Given the description of an element on the screen output the (x, y) to click on. 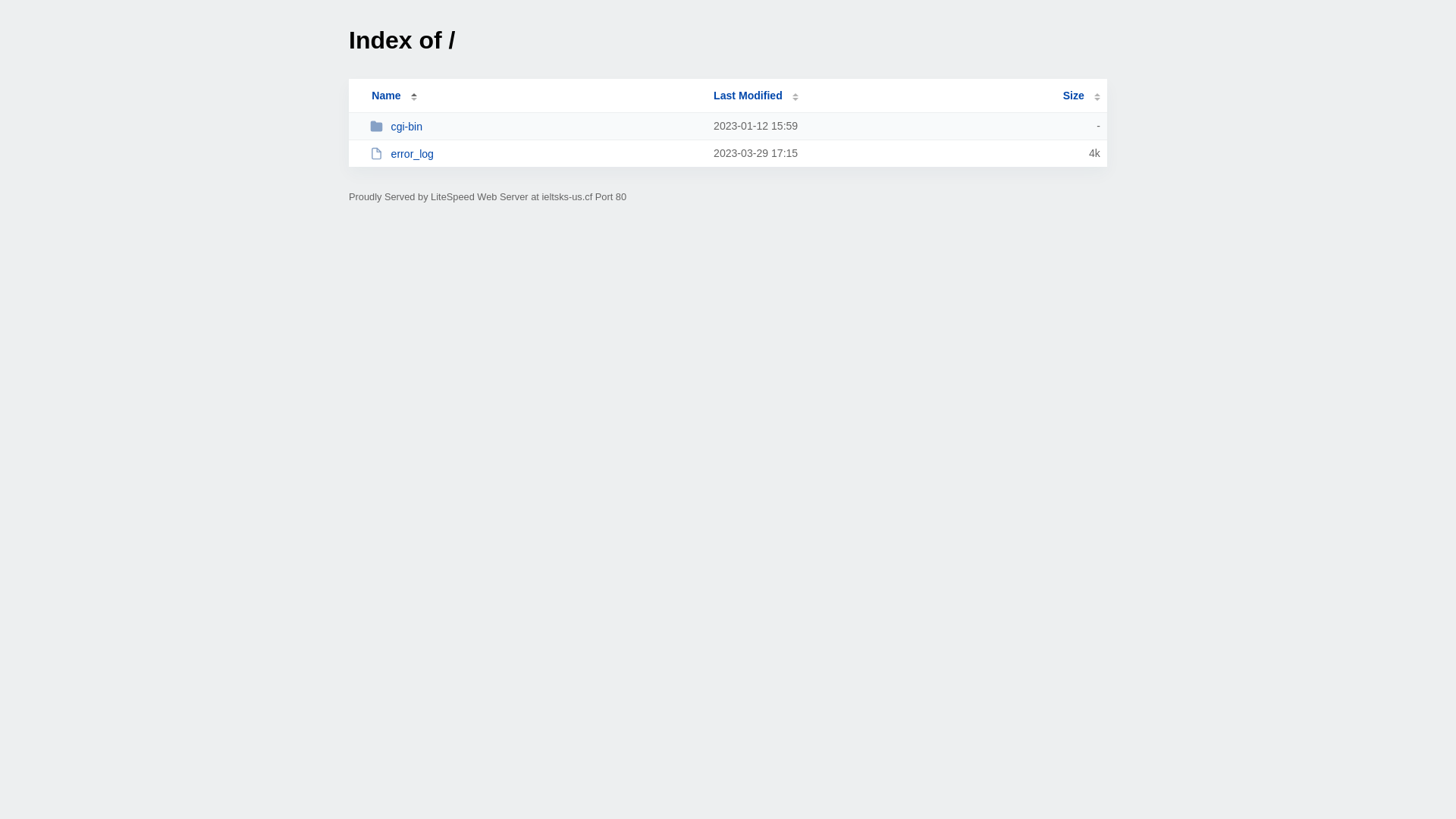
Last Modified Element type: text (755, 95)
Name Element type: text (385, 95)
error_log Element type: text (534, 153)
Size Element type: text (1081, 95)
cgi-bin Element type: text (534, 125)
